Given the description of an element on the screen output the (x, y) to click on. 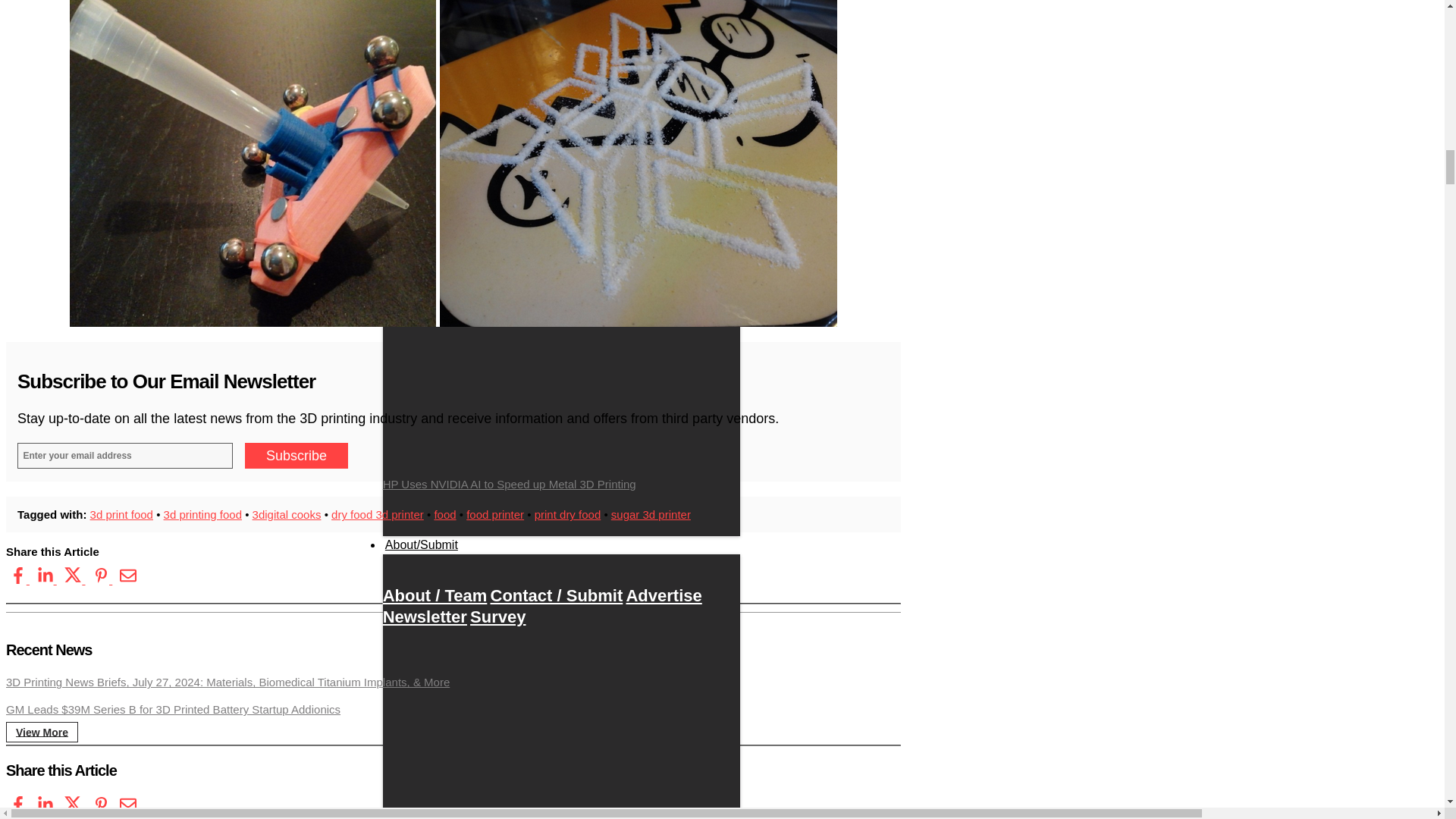
Subscribe (295, 455)
